Given the description of an element on the screen output the (x, y) to click on. 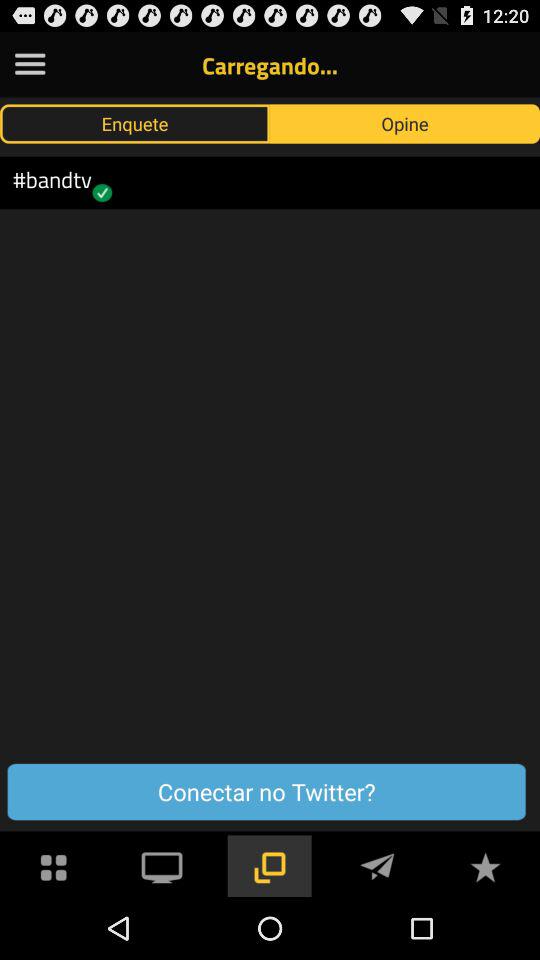
tap button below the conectar no twitter? (54, 864)
